Given the description of an element on the screen output the (x, y) to click on. 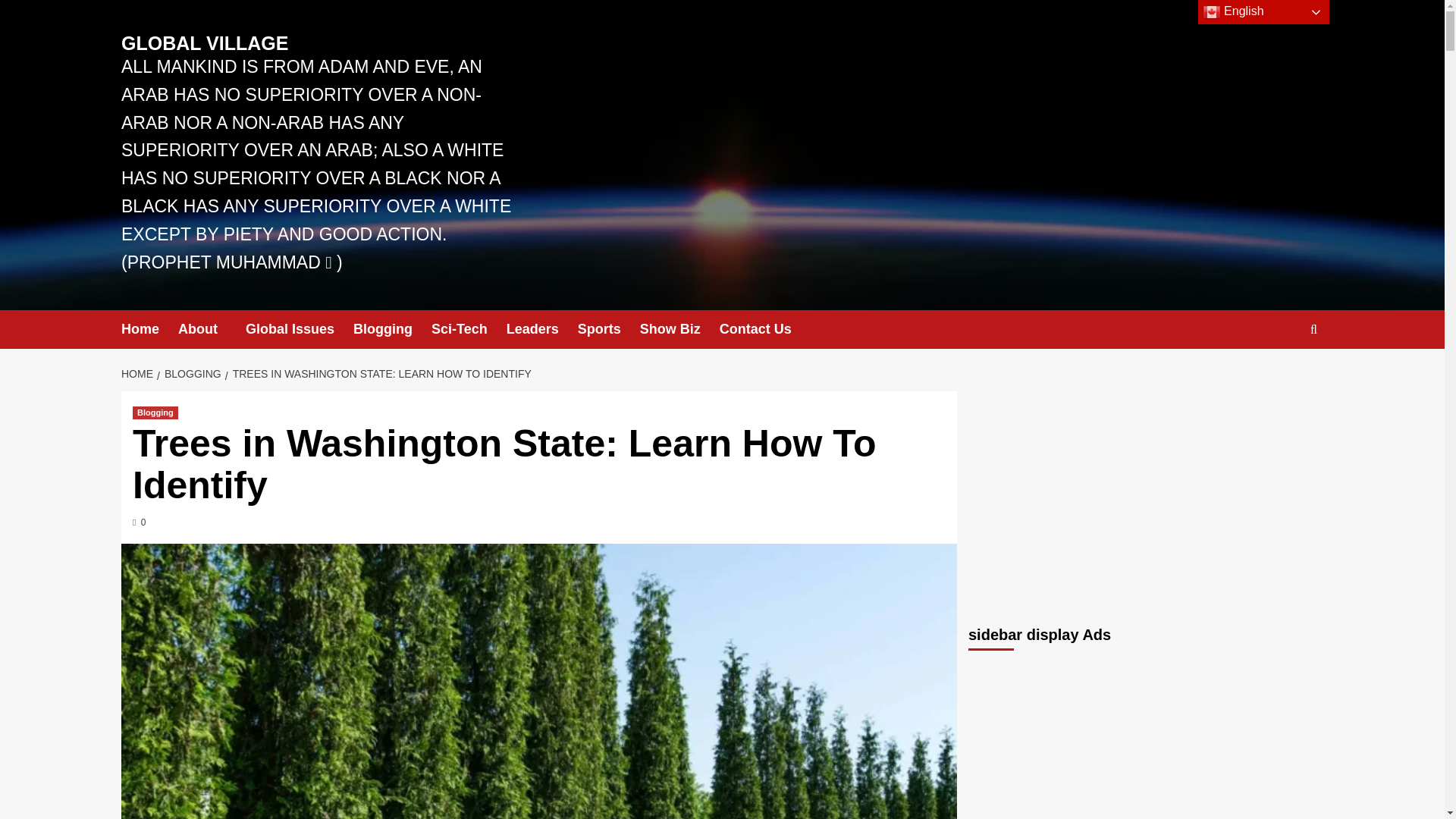
Sports (609, 329)
TREES IN WASHINGTON STATE: LEARN HOW TO IDENTIFY (380, 373)
Sci-Tech (468, 329)
Home (148, 329)
0 (138, 521)
GLOBAL VILLAGE (204, 43)
Search (1278, 376)
Blogging (391, 329)
Global Issues (299, 329)
Contact Us (764, 329)
Show Biz (679, 329)
HOME (138, 373)
About (211, 329)
Blogging (154, 412)
